Given the description of an element on the screen output the (x, y) to click on. 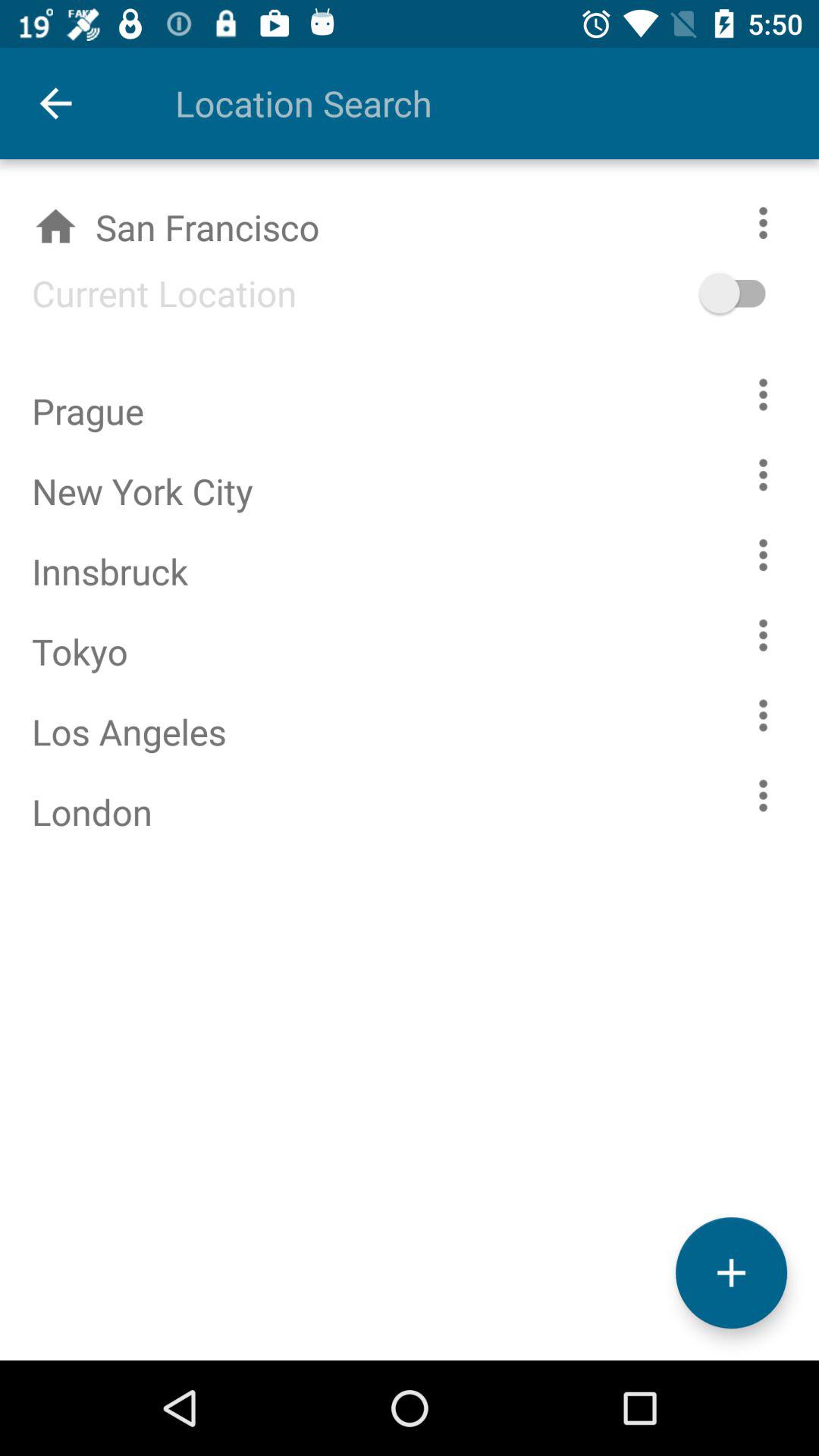
turn off the item next to the san francisco icon (755, 293)
